Given the description of an element on the screen output the (x, y) to click on. 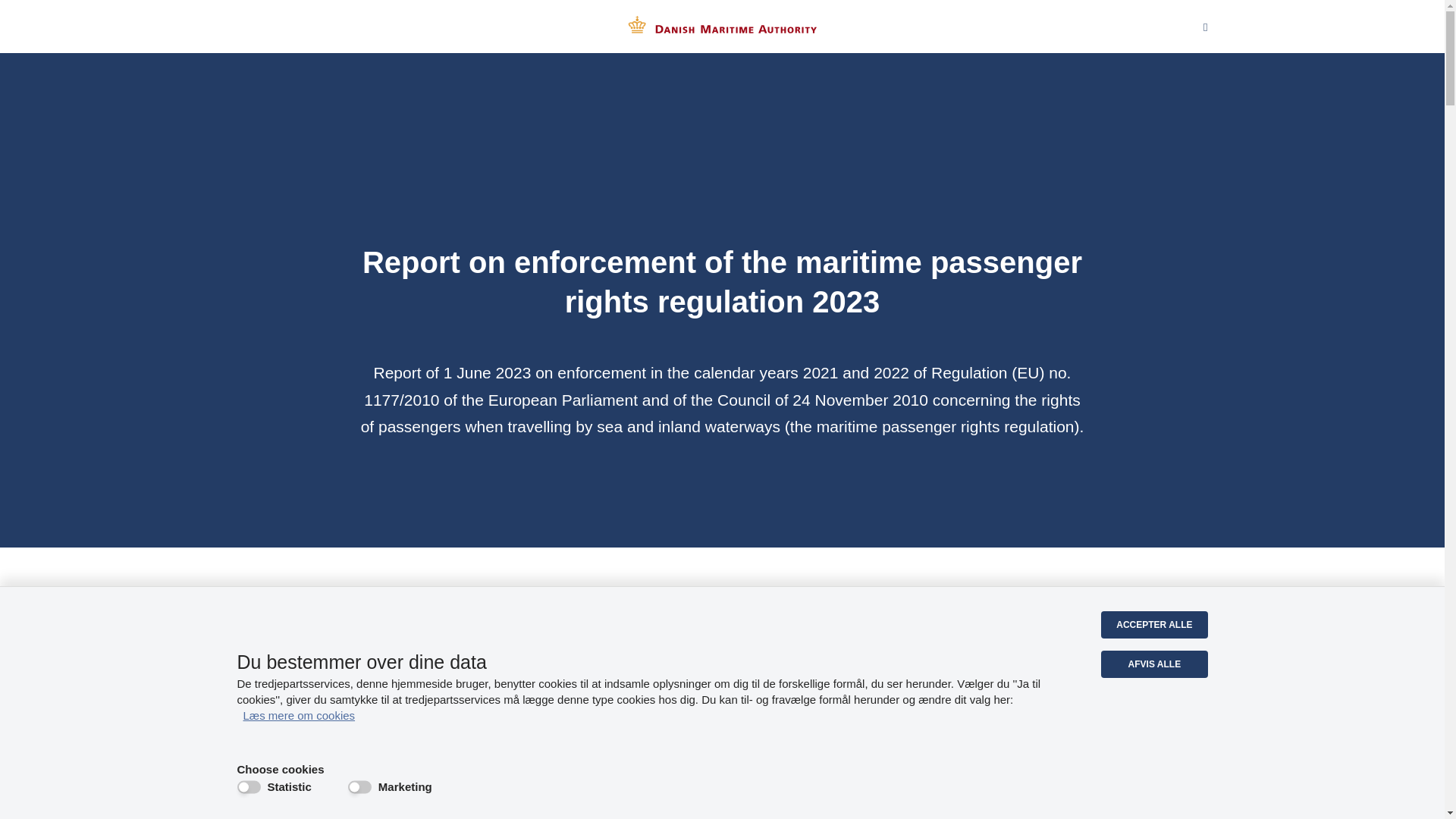
ACCEPTER ALLE (1153, 624)
Inspection (951, 760)
Background (536, 813)
AFVIS ALLE (1153, 664)
Statistics for 2021-22 (951, 813)
Report on enforcement (536, 760)
